Given the description of an element on the screen output the (x, y) to click on. 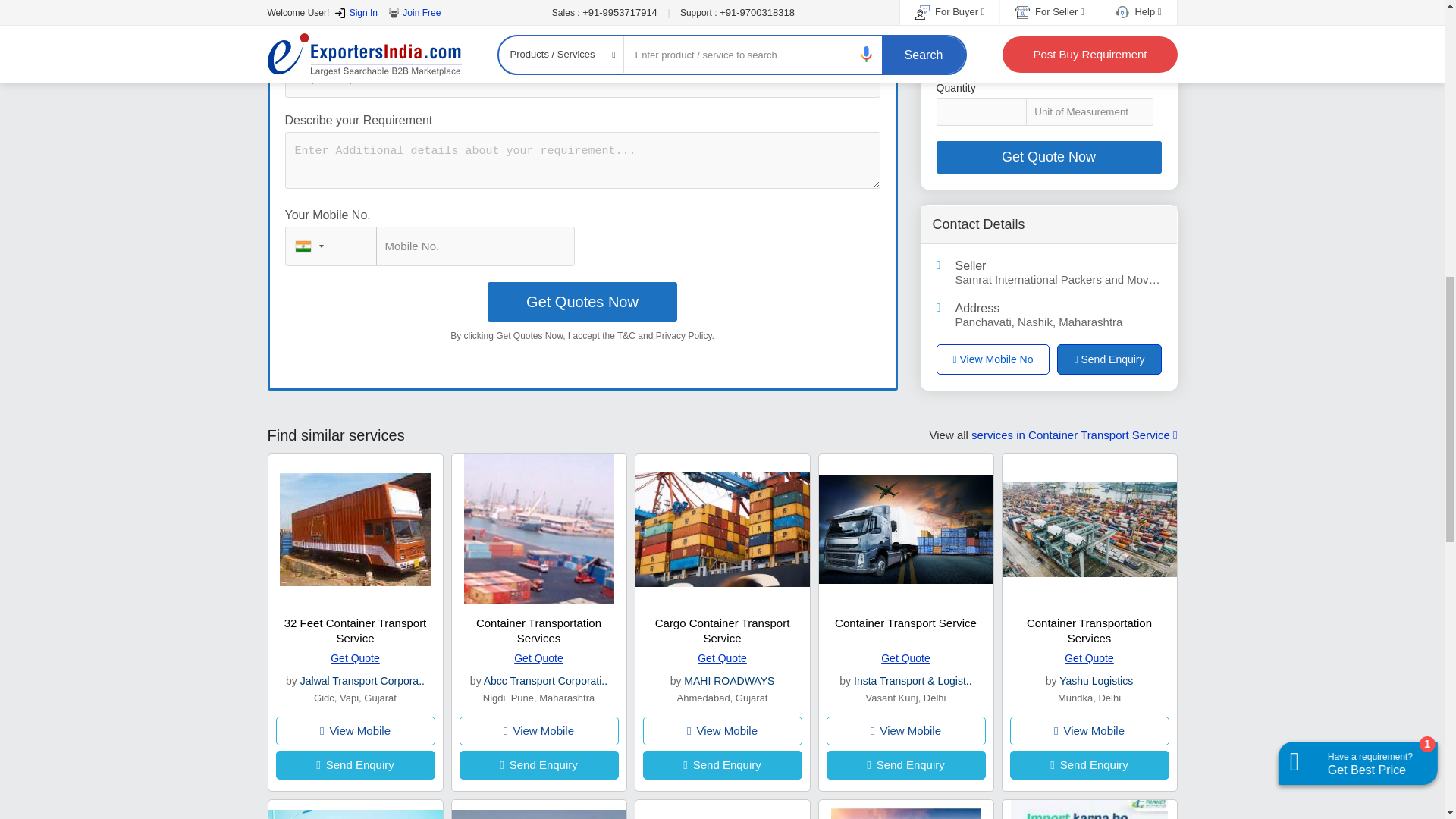
Container Transportation Services (1088, 630)
Privacy Policy (683, 335)
32 Feet Container Transport Service (354, 630)
Ship Transportation Services (582, 77)
Get Quotes Now (582, 301)
Cargo Container Transport Service (722, 630)
Container Transportation Services (538, 630)
Container Transport Service (905, 622)
Ship Transportation Services (582, 77)
